Given the description of an element on the screen output the (x, y) to click on. 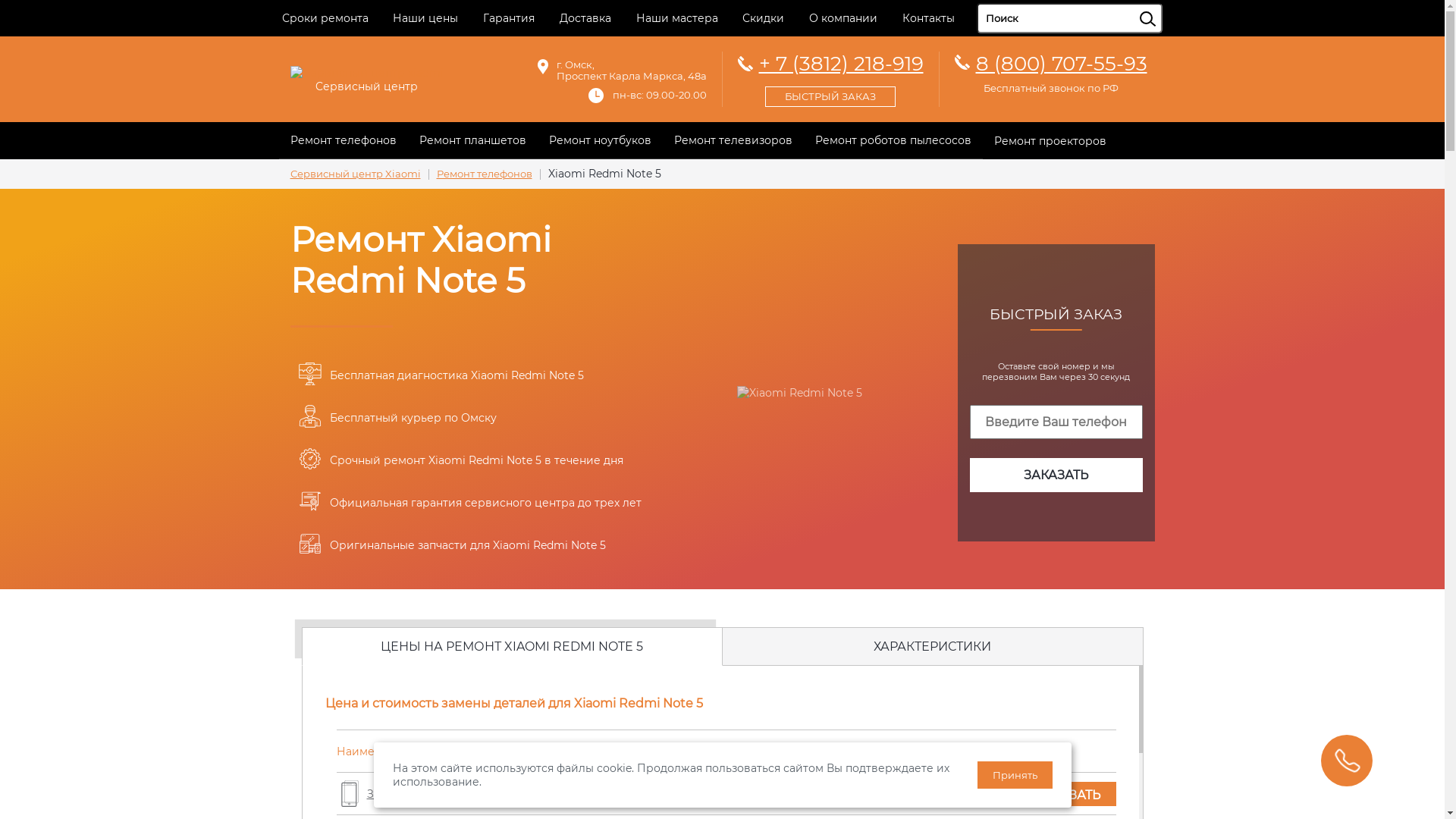
+ 7 (3812) 218-919 Element type: text (829, 77)
sisea.search Element type: text (1165, 3)
8 (800) 707-55-93 Element type: text (1060, 63)
